Given the description of an element on the screen output the (x, y) to click on. 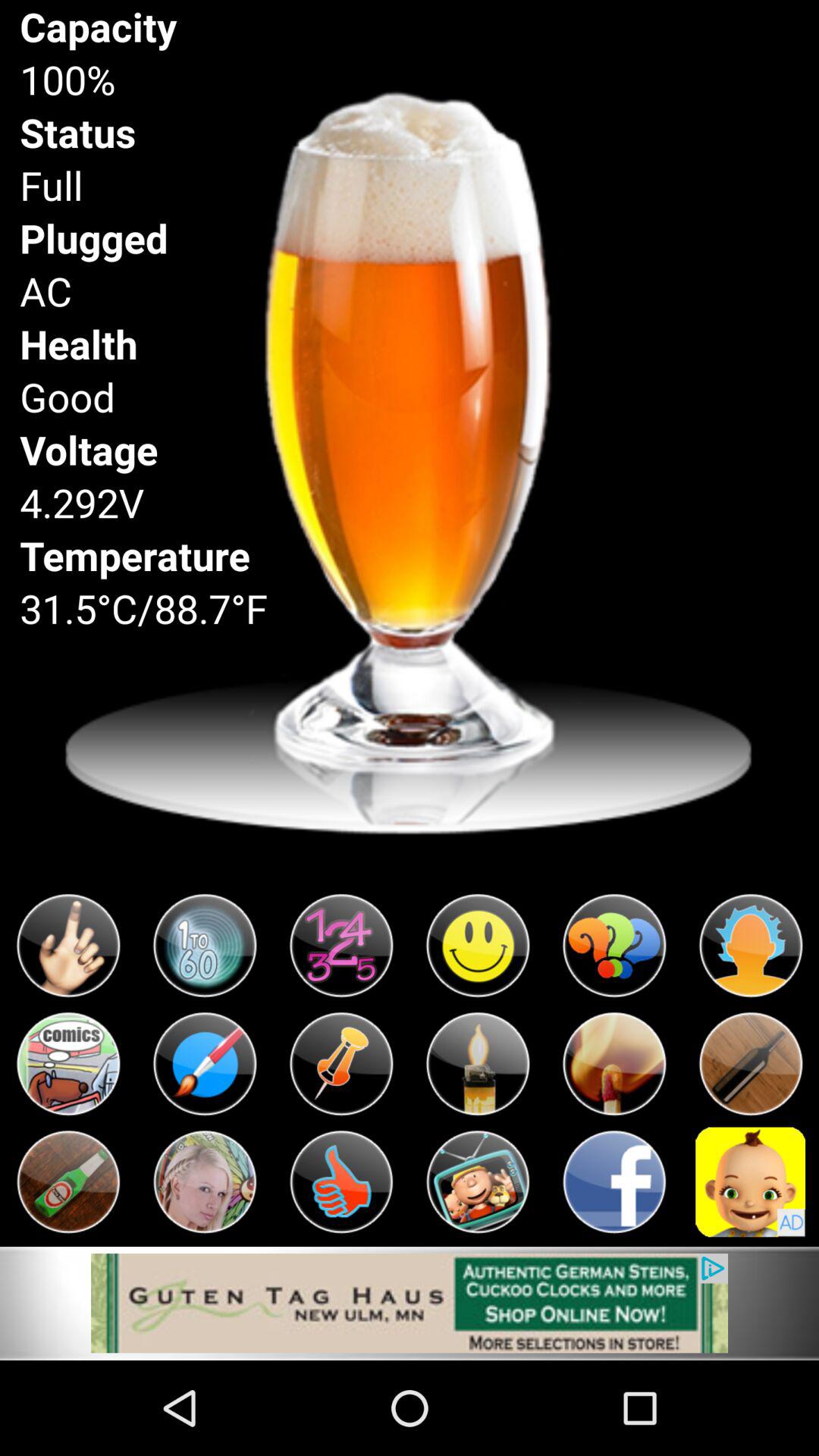
click the icon (204, 945)
